Given the description of an element on the screen output the (x, y) to click on. 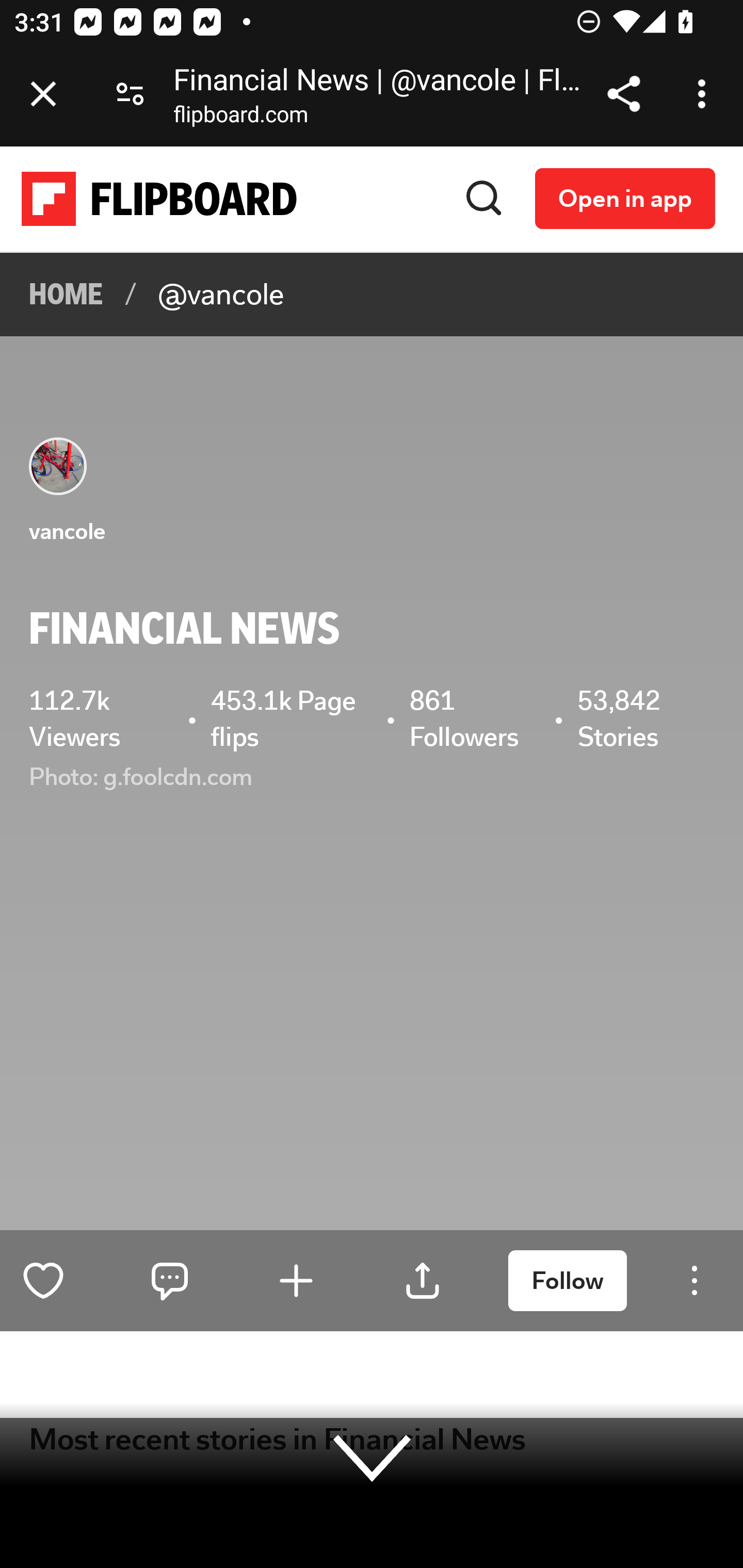
Close tab (43, 93)
Share link address (623, 93)
Customize and control Google Chrome (705, 93)
Connection is secure (129, 93)
flipboard.com (240, 117)
Open in app (625, 197)
Search (484, 198)
HOME (66, 294)
@vancole (220, 294)
Avatar - vancole (58, 466)
vancole (67, 531)
Like (43, 1280)
comment (170, 1280)
Flip (296, 1280)
Share (422, 1280)
Menu (694, 1279)
Follow (567, 1280)
Expand (372, 1457)
